Given the description of an element on the screen output the (x, y) to click on. 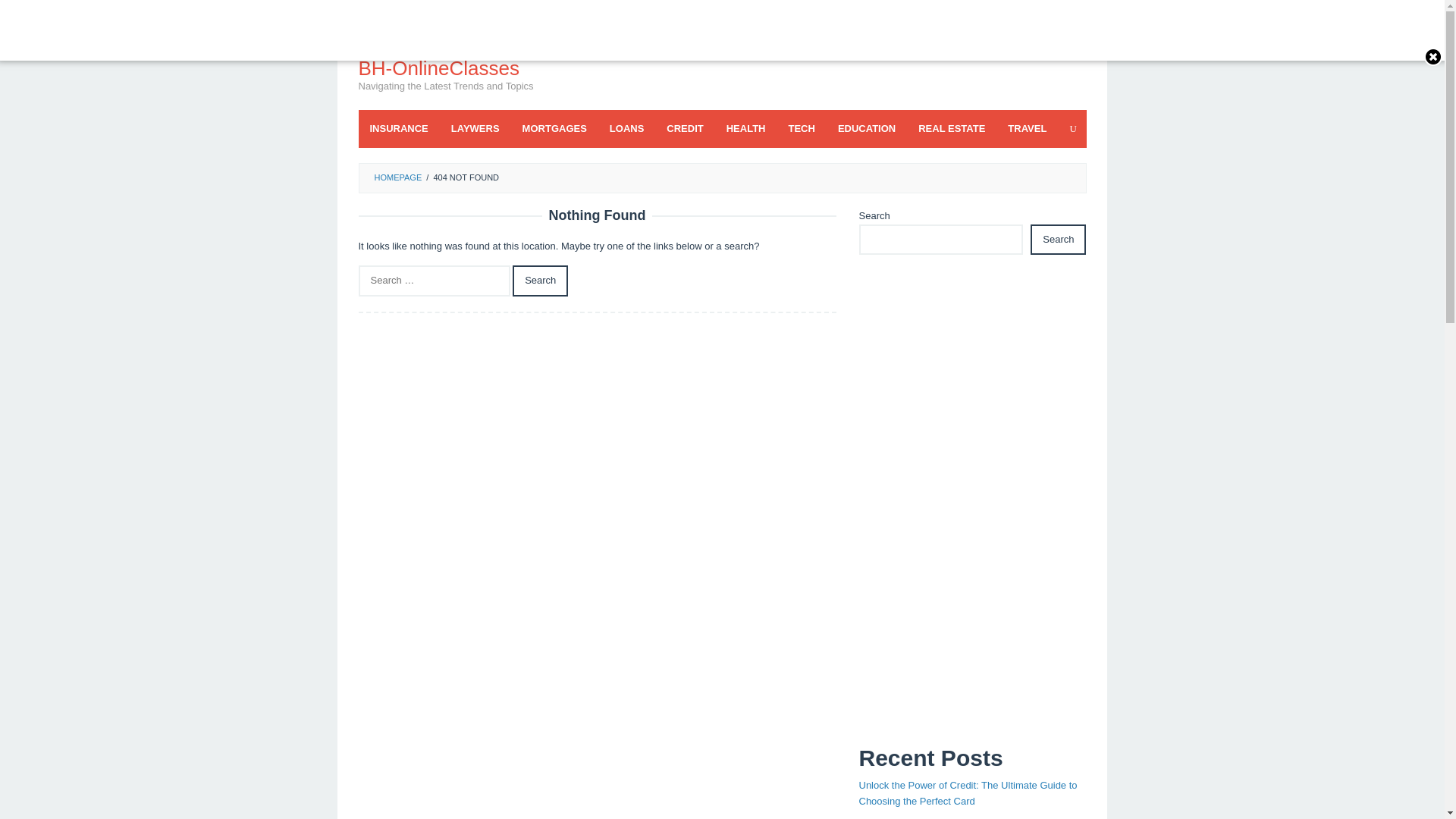
CREDIT (684, 128)
MORTGAGES (554, 128)
LOANS (627, 128)
Search (539, 280)
PRIVACY POLICY (410, 15)
Search (539, 280)
HOMEPAGE (398, 176)
LAYWERS (475, 128)
EDUCATION (867, 128)
TECH (800, 128)
Search (539, 280)
TRAVEL (1026, 128)
CONTACT (556, 15)
HEALTH (745, 128)
BH-OnlineClasses (438, 67)
